Given the description of an element on the screen output the (x, y) to click on. 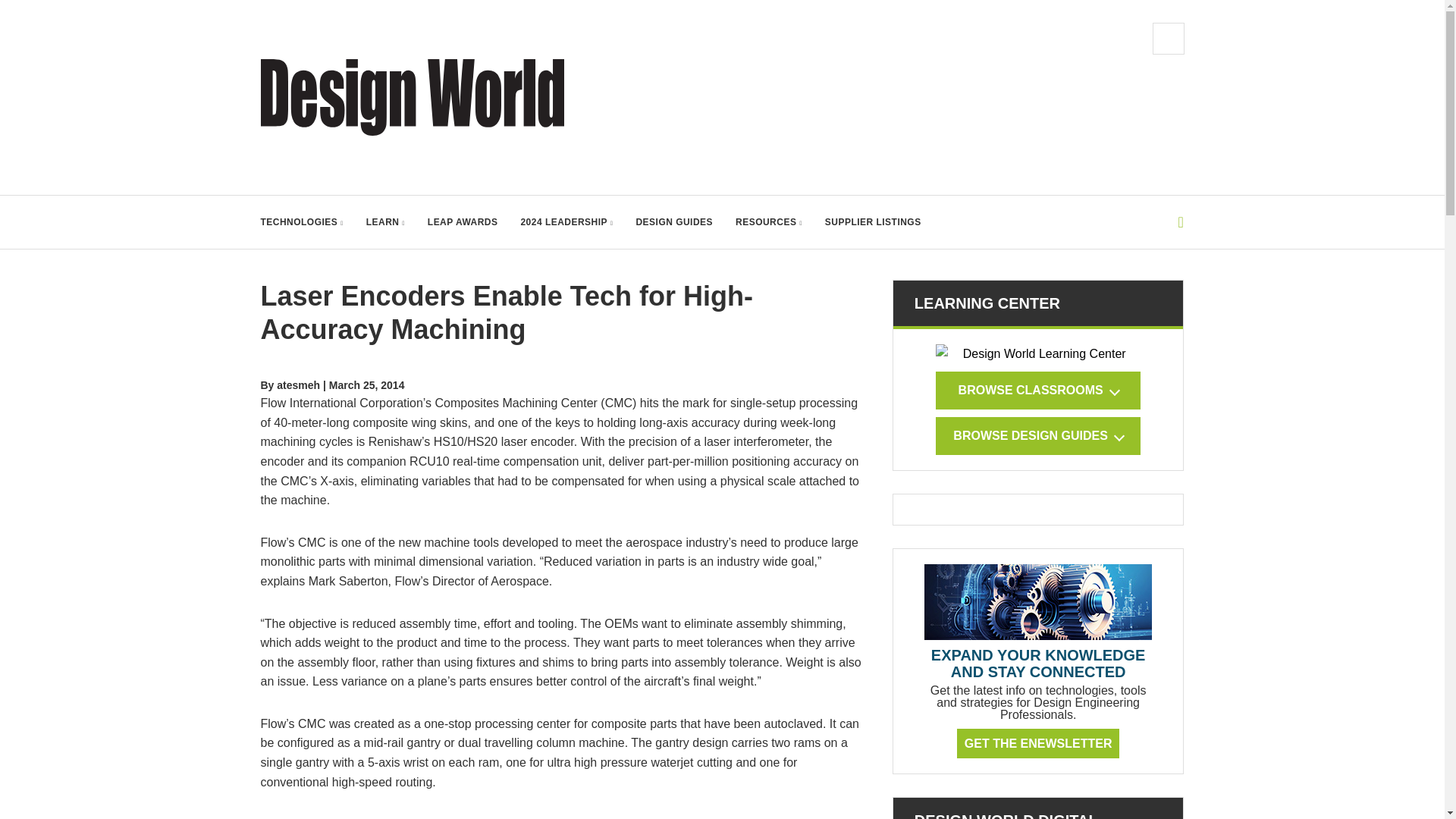
TECHNOLOGIES (301, 221)
Design World (412, 96)
DESIGN GUIDES (673, 221)
RESOURCES (768, 221)
2024 LEADERSHIP (565, 221)
SUPPLIER LISTINGS (873, 221)
LEAP AWARDS (462, 221)
